Given the description of an element on the screen output the (x, y) to click on. 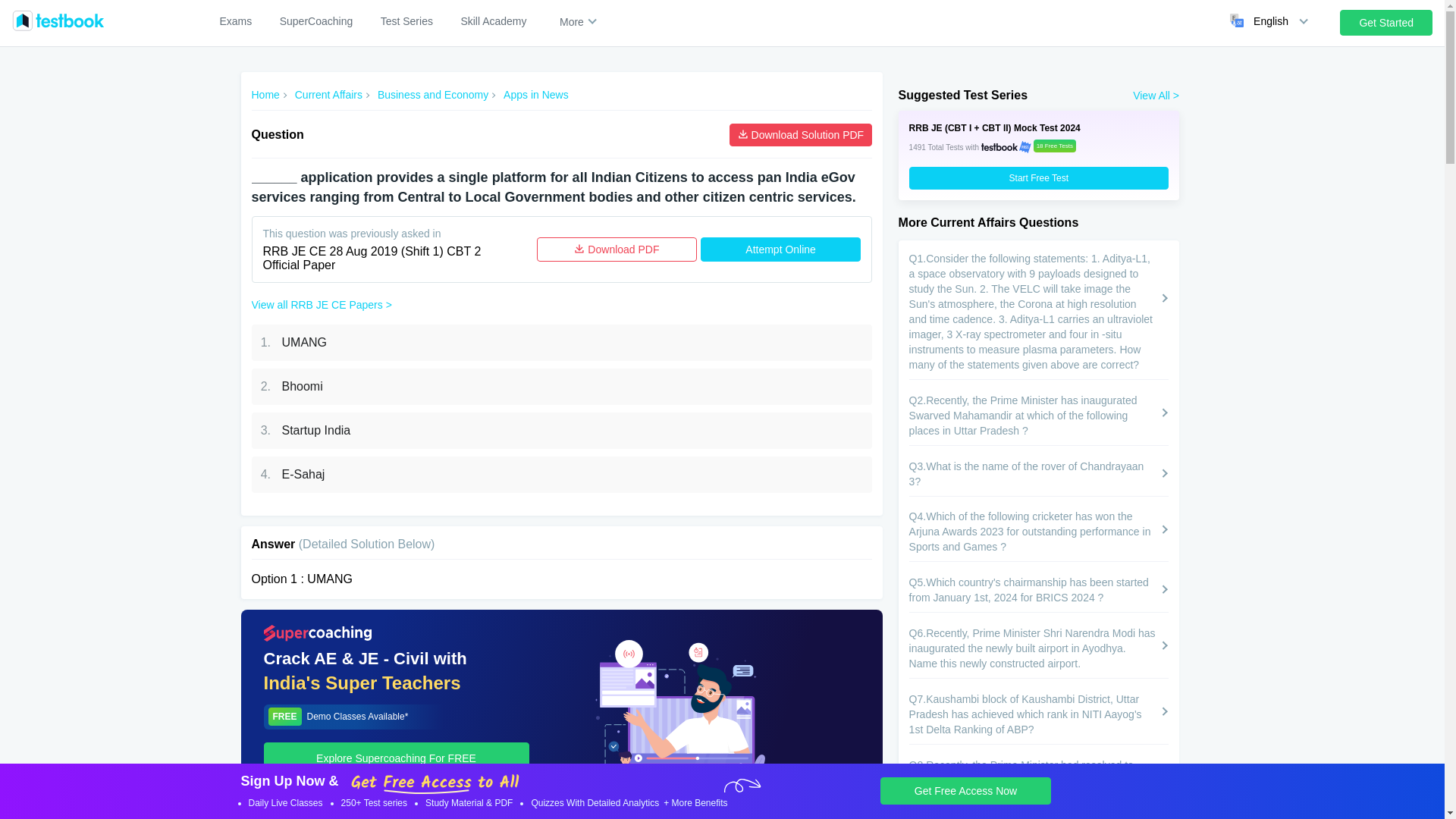
Skill Academy (493, 21)
Exams (234, 21)
SuperCoaching (316, 21)
Home (265, 94)
Business and Economy (432, 94)
Apps in News (536, 94)
Current Affairs (328, 94)
Test Series (406, 21)
Attempt Online (780, 249)
Download Solution PDF (800, 134)
Download PDF (617, 249)
Current Affairs (328, 94)
Business and Economy (432, 94)
Apps in News (536, 94)
Get Started (1385, 22)
